Given the description of an element on the screen output the (x, y) to click on. 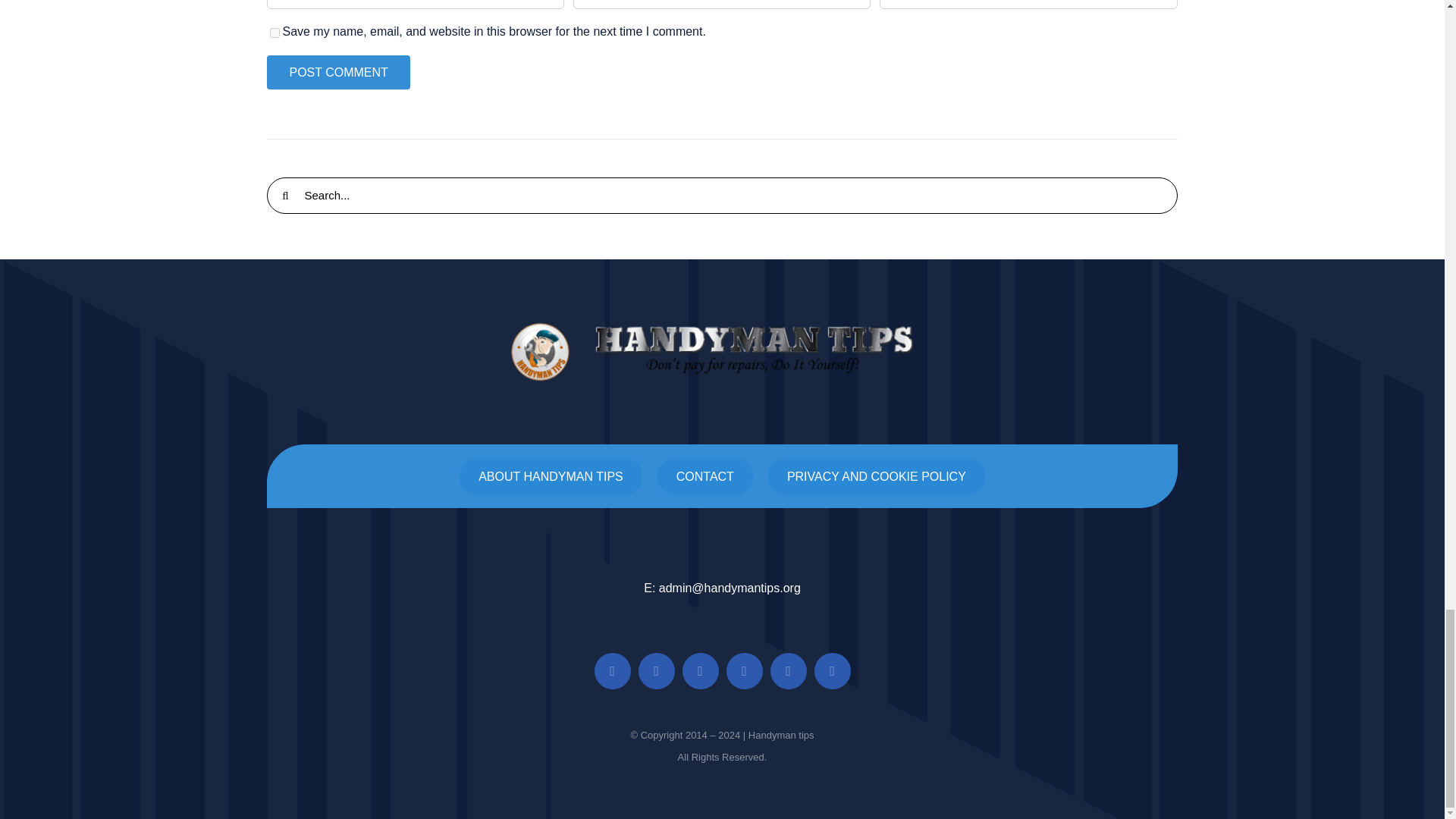
Post Comment (337, 72)
ABOUT HANDYMAN TIPS (551, 476)
yes (274, 32)
CONTACT (705, 476)
PRIVACY AND COOKIE POLICY (876, 476)
Post Comment (337, 72)
Handyman tips header new (721, 352)
